Given the description of an element on the screen output the (x, y) to click on. 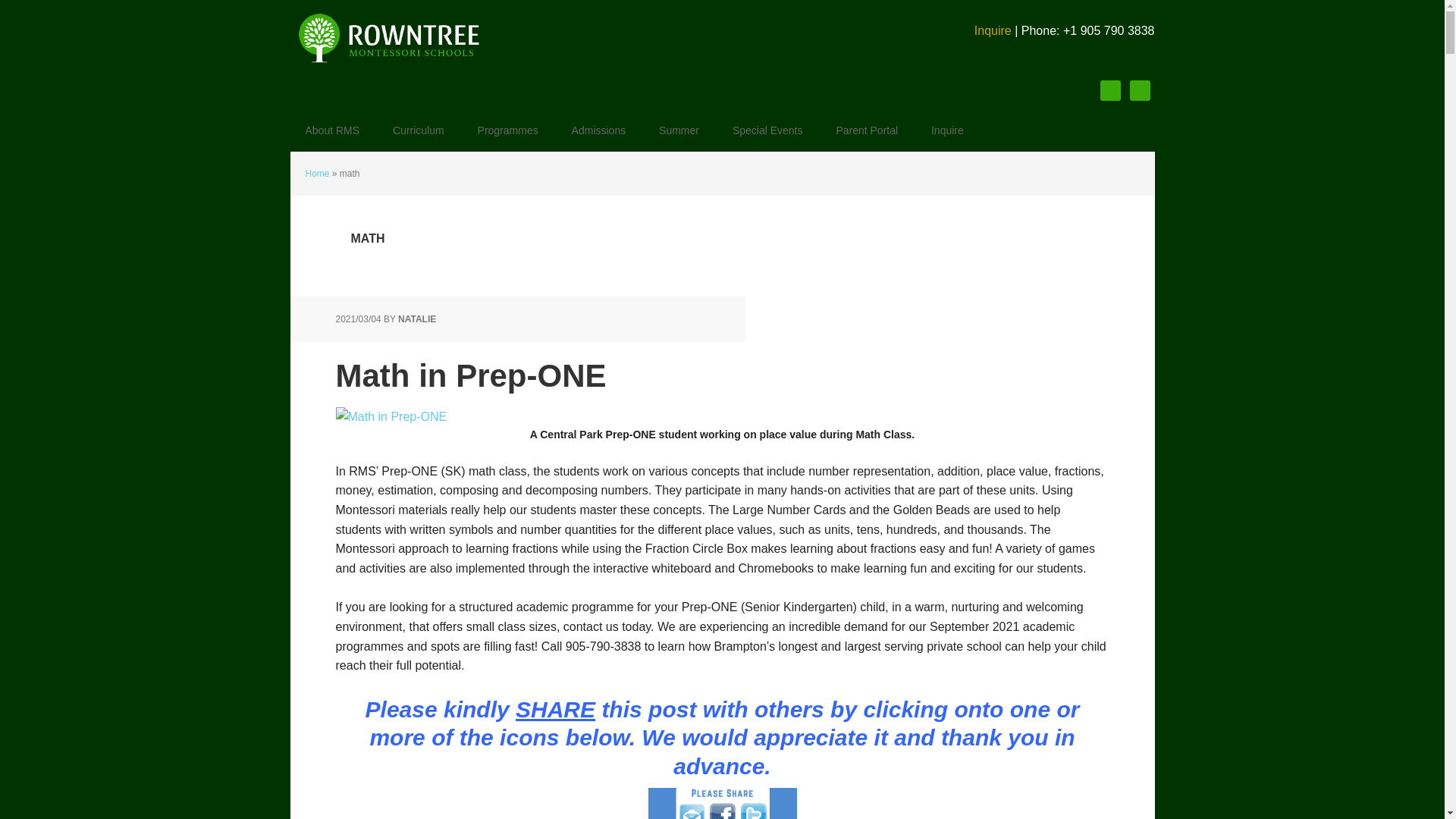
Summer (678, 129)
Admissions (599, 129)
About RMS (331, 129)
Rowntree Montessori Schools (387, 38)
Inquire (992, 30)
Parent Portal (866, 129)
Curriculum (418, 129)
Programmes (508, 129)
Special Events (767, 129)
